Given the description of an element on the screen output the (x, y) to click on. 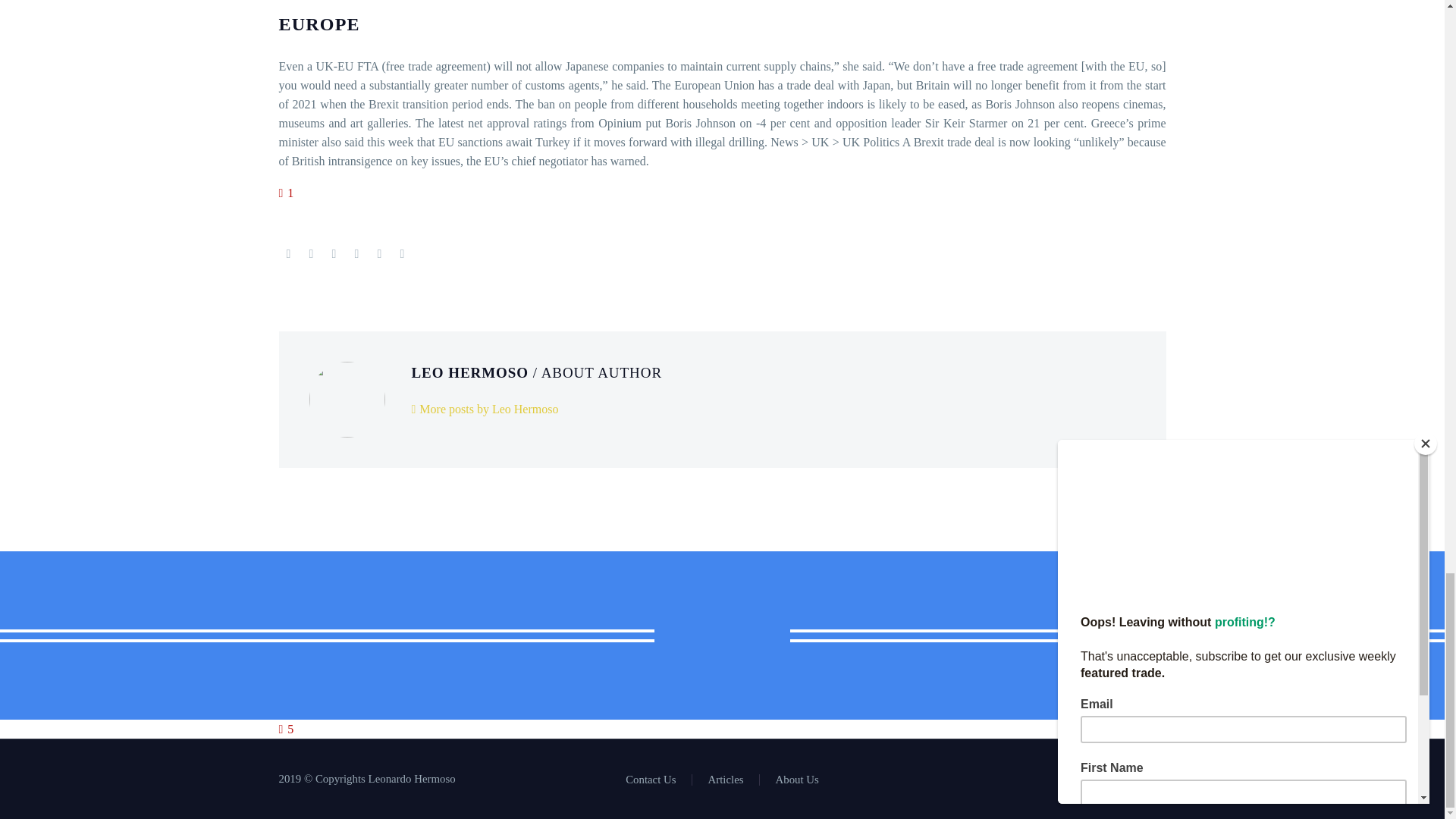
Facebook (288, 254)
Reddit (401, 254)
LinkedIn (378, 254)
Pinterest (333, 254)
LinkedIn (1122, 780)
Tumblr (356, 254)
Twitter (310, 254)
Twitter (1141, 780)
YouTube (1161, 780)
